Given the description of an element on the screen output the (x, y) to click on. 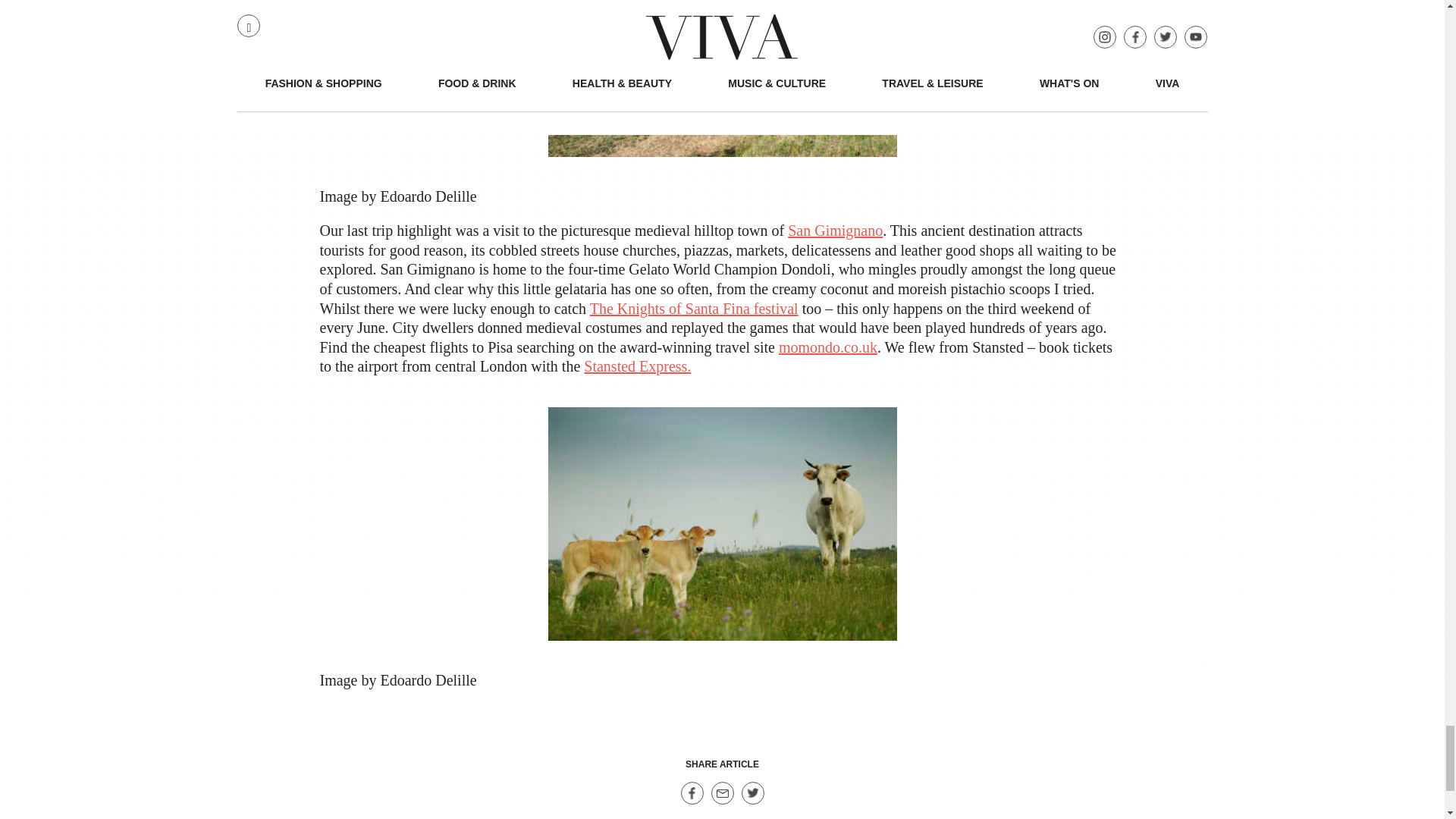
Stansted Express. (636, 365)
The Knights of Santa Fina festival (693, 308)
San Gimignano (834, 230)
momondo.co.uk (827, 347)
